Given the description of an element on the screen output the (x, y) to click on. 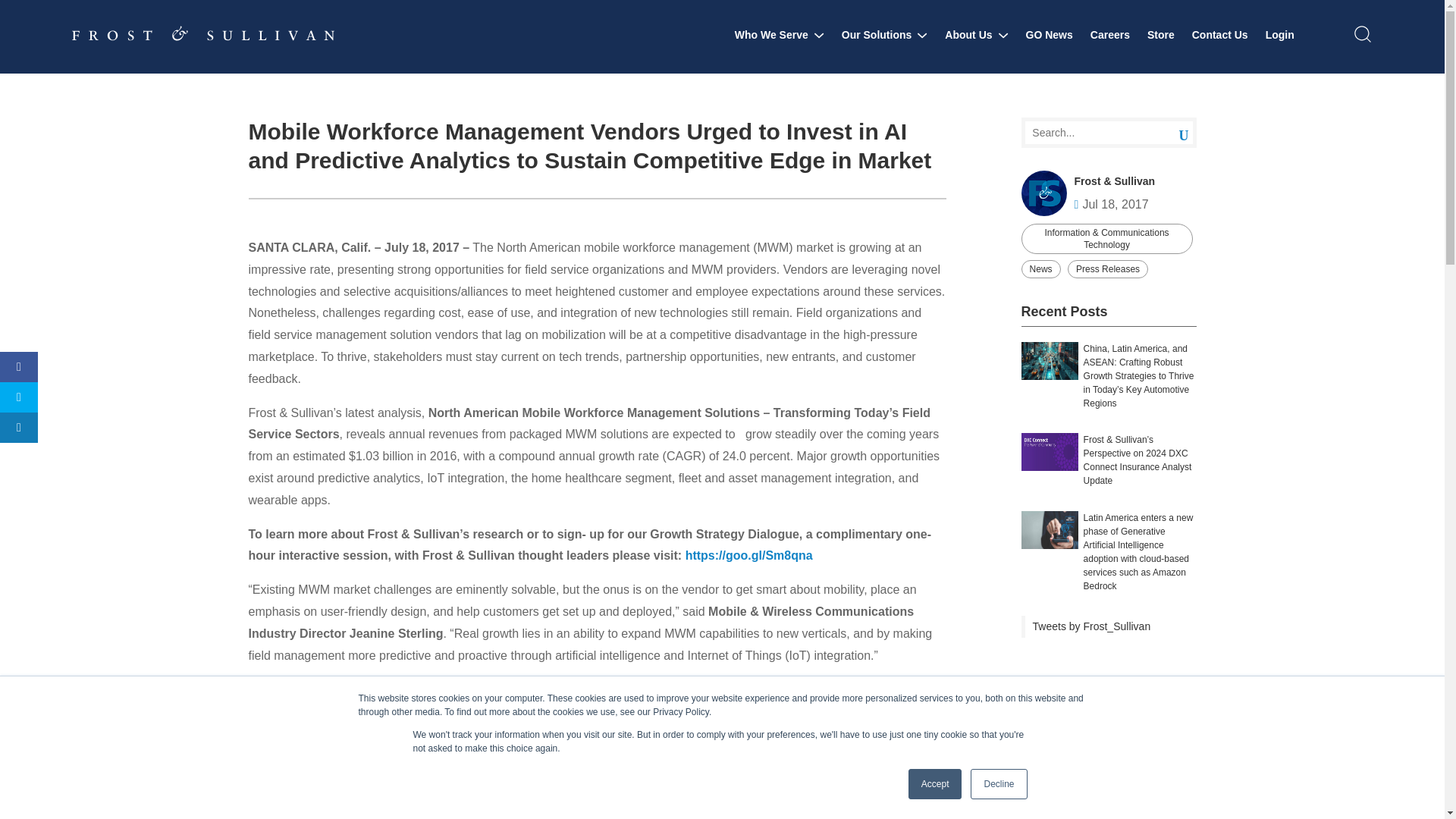
Decline (998, 784)
Search (1172, 132)
Accept (935, 784)
Who We Serve (779, 35)
